Given the description of an element on the screen output the (x, y) to click on. 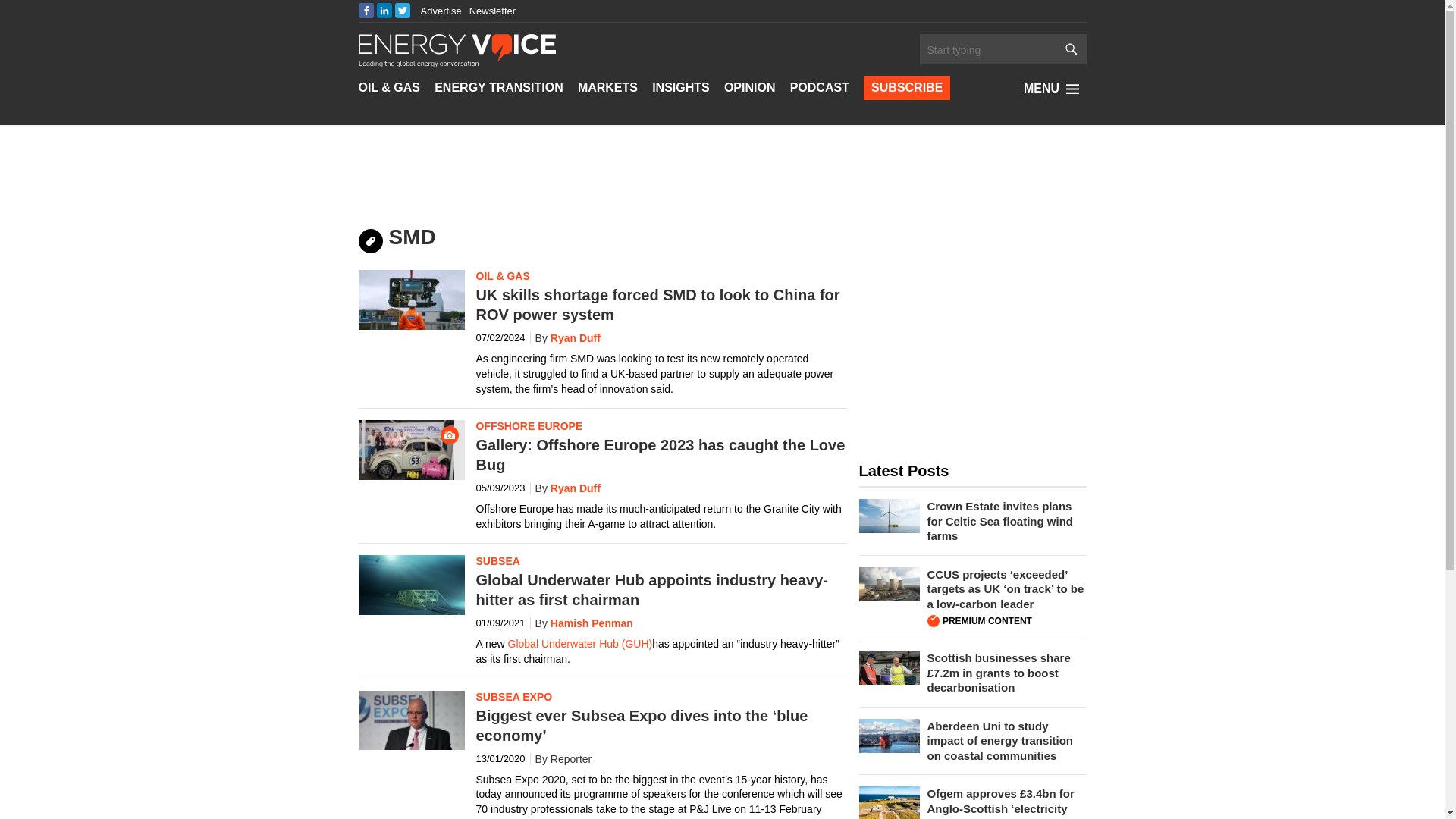
Energy Voice (456, 49)
Ryan Duff (564, 337)
Advertise (440, 11)
Search (987, 50)
Ryan Duff (564, 488)
LinkedIn (383, 10)
ENERGY TRANSITION (498, 87)
